Given the description of an element on the screen output the (x, y) to click on. 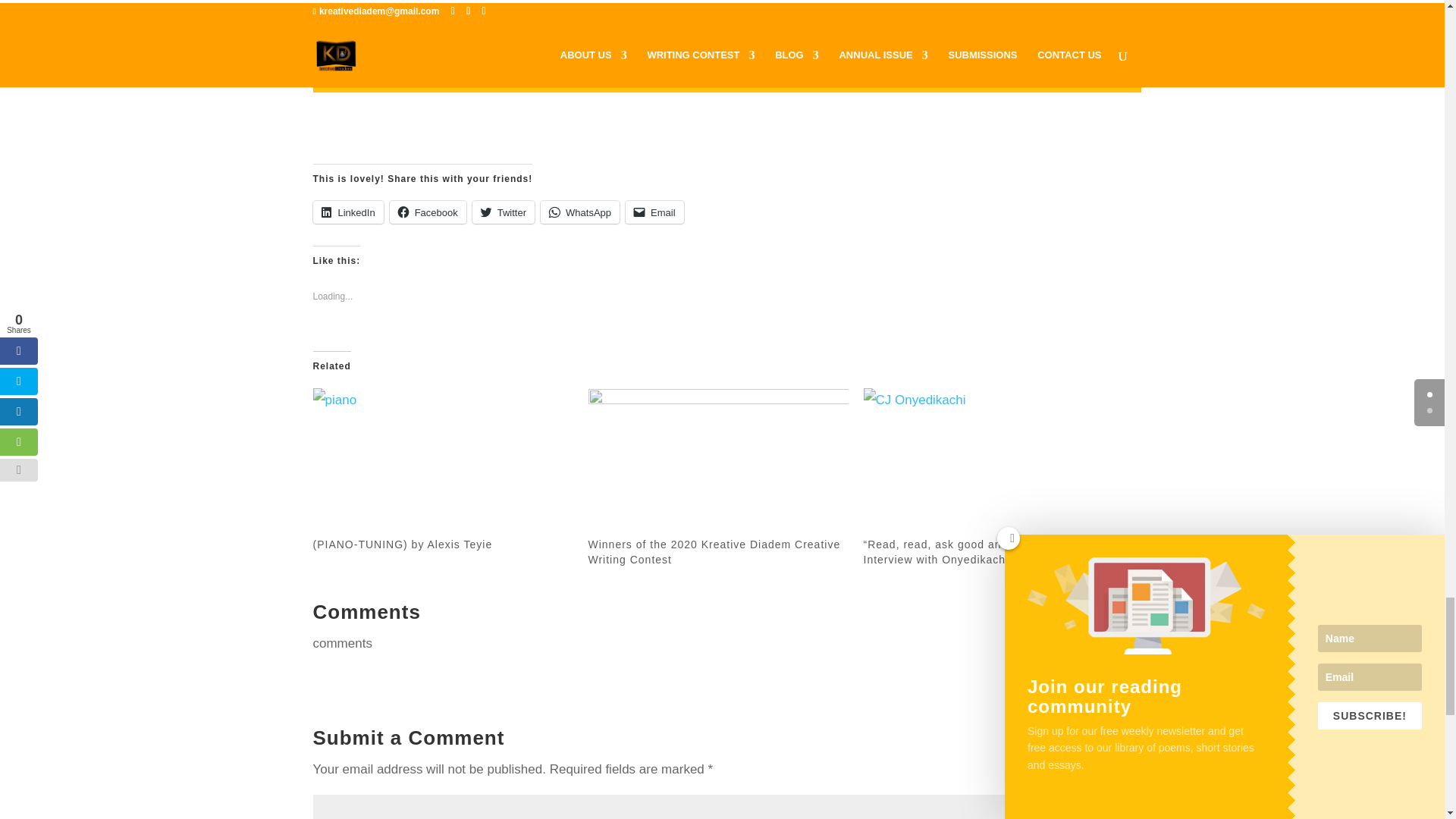
Click to share on LinkedIn (347, 211)
Winners of the 2020 Kreative Diadem Creative Writing Contest (718, 462)
Click to email a link to a friend (655, 211)
Click to share on WhatsApp (580, 211)
Click to share on Facebook (427, 211)
Click to share on Twitter (502, 211)
